Given the description of an element on the screen output the (x, y) to click on. 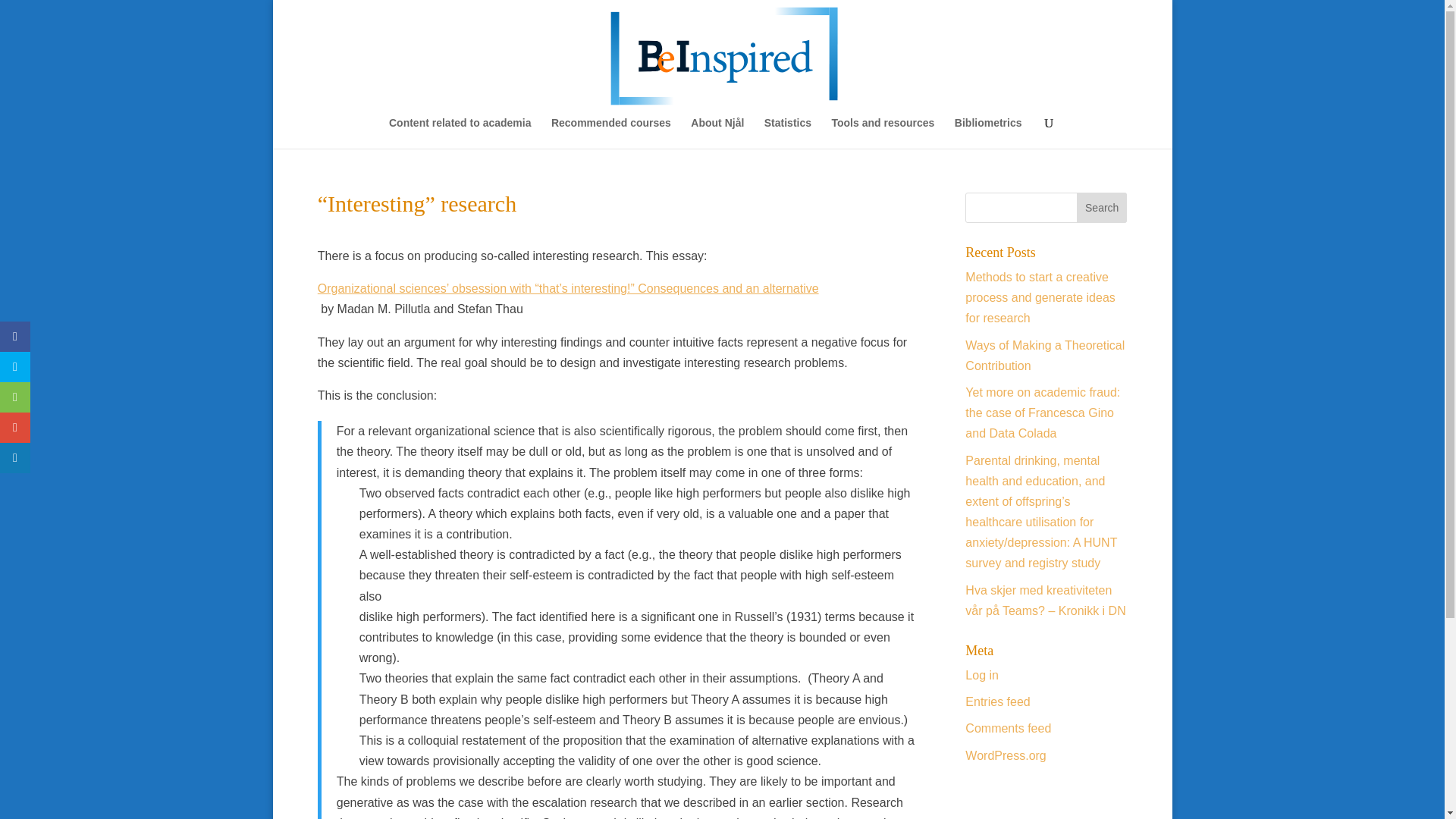
Ways of Making a Theoretical Contribution (1044, 355)
Statistics (787, 132)
Comments feed (1008, 727)
Content related to academia (459, 132)
Log in (981, 675)
Entries feed (997, 701)
Bibliometrics (988, 132)
Recommended courses (611, 132)
WordPress.org (1005, 755)
Tools and resources (882, 132)
Search (1101, 207)
Search (1101, 207)
